Given the description of an element on the screen output the (x, y) to click on. 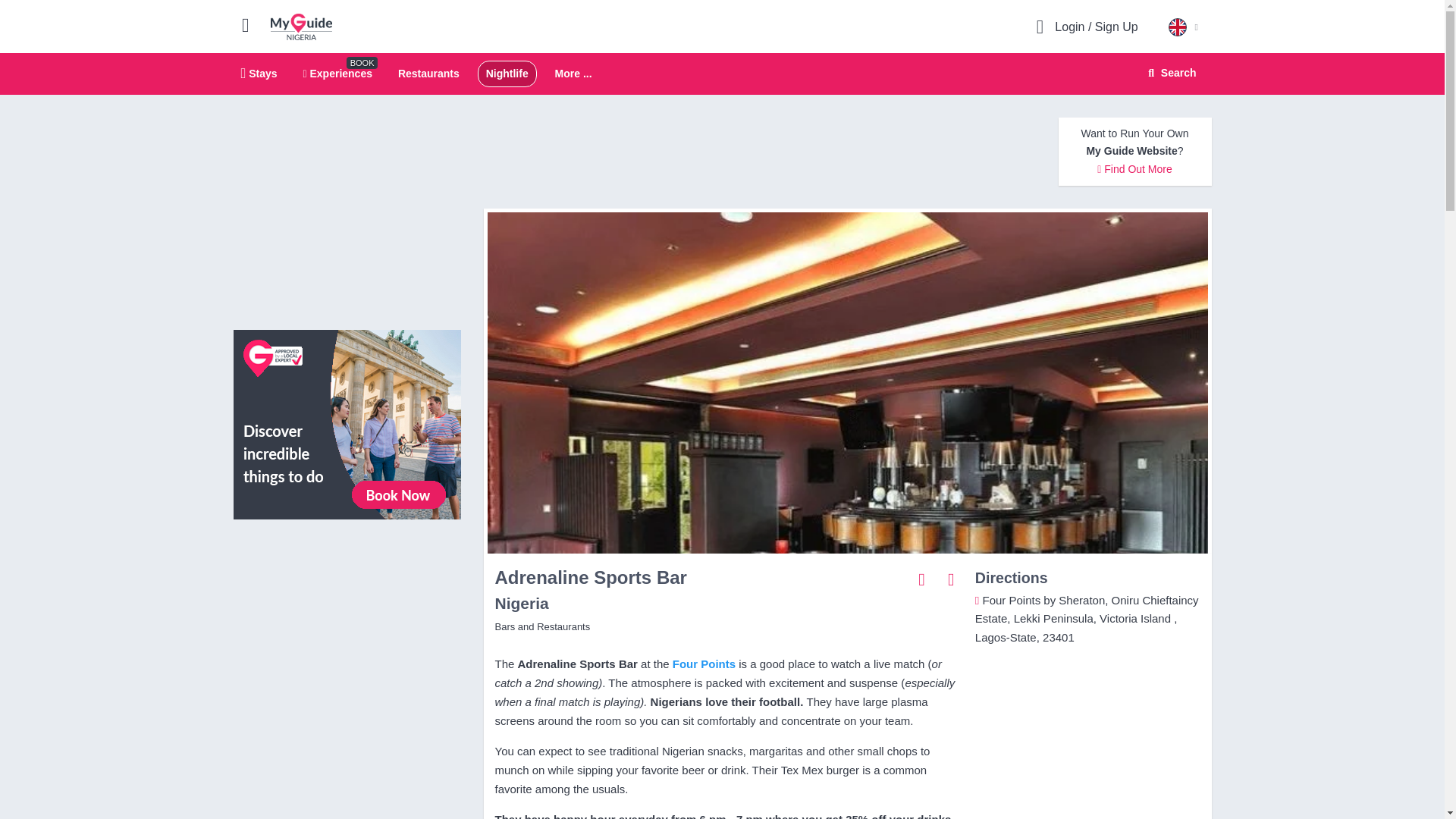
My Guide Nigeria (300, 25)
View All Experiences (346, 423)
Stays (259, 73)
Experiences (337, 73)
Nightlife (507, 73)
More ... (573, 73)
GetYourGuide Widget (346, 599)
Restaurants (428, 73)
Add to My Guide (950, 579)
Toggle Menu (251, 24)
Search (721, 74)
Larger Map for Company: Adrenaline Sports Bar Nigeria (1169, 72)
